Given the description of an element on the screen output the (x, y) to click on. 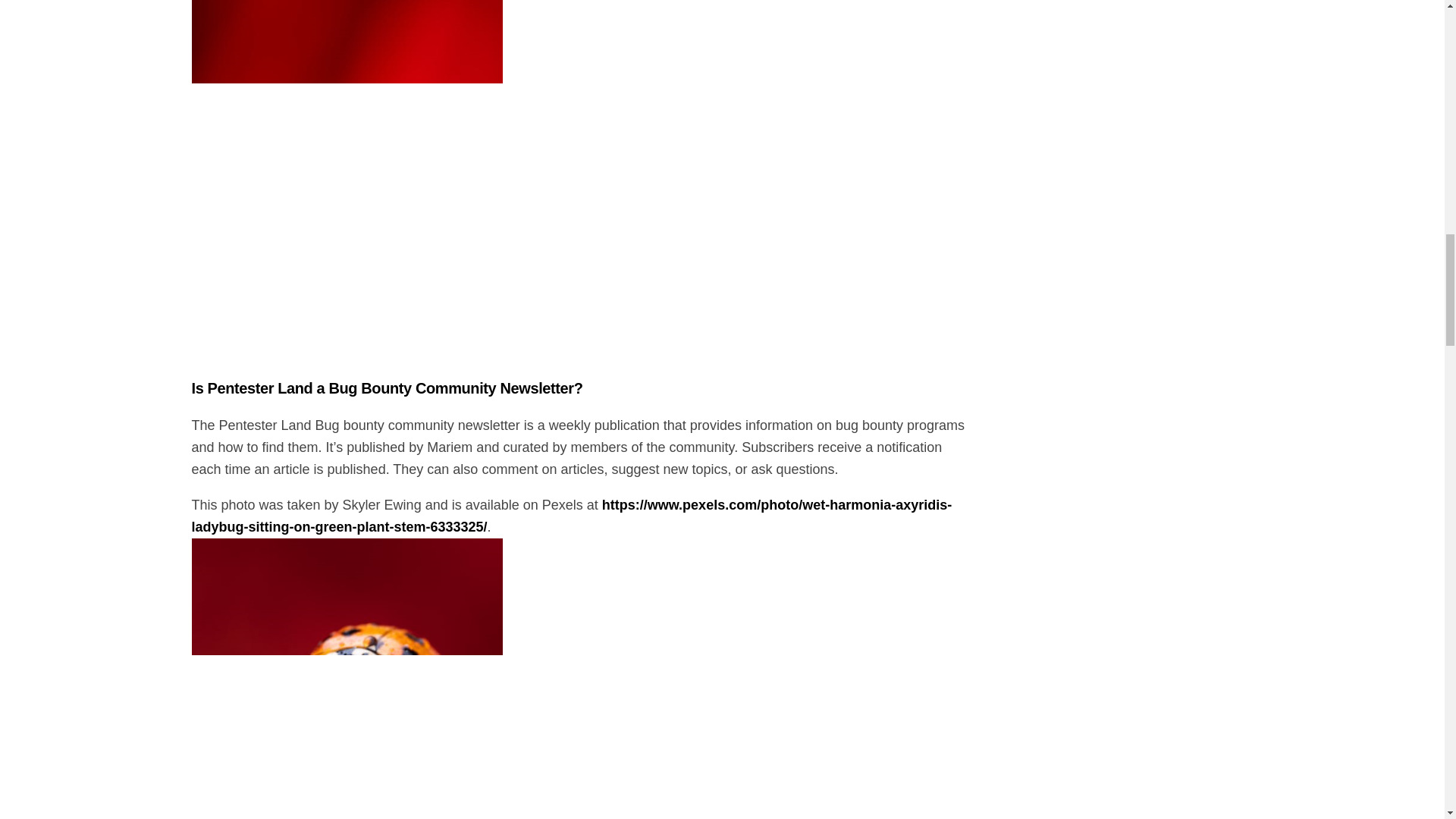
Is Pentester Land a Bug Bounty Community Newsletter? (386, 388)
